Given the description of an element on the screen output the (x, y) to click on. 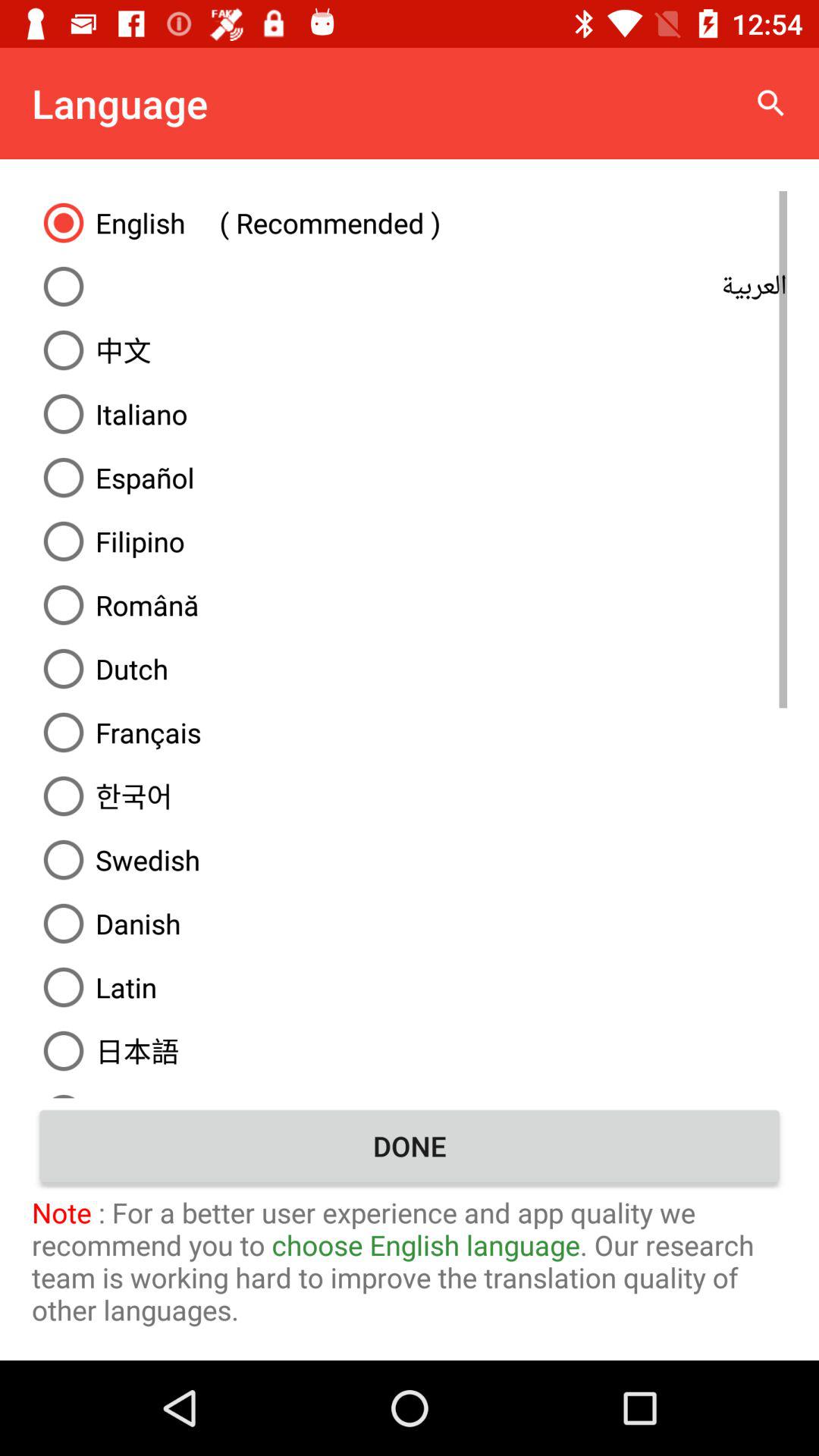
choose icon above latin item (409, 923)
